Given the description of an element on the screen output the (x, y) to click on. 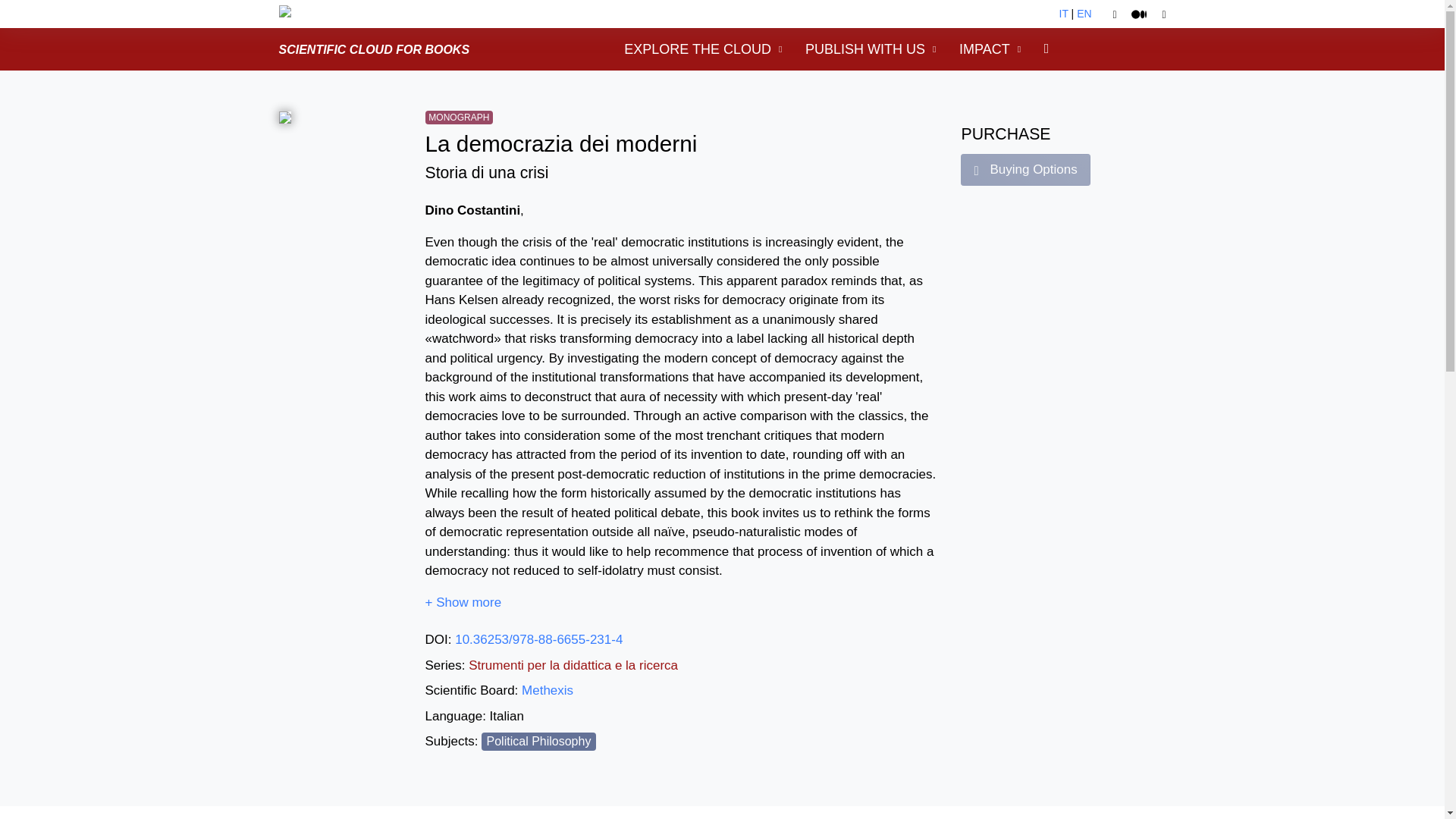
PUBLISH WITH US (870, 48)
EN (1083, 13)
EXPLORE THE CLOUD (702, 48)
SCIENTIFIC CLOUD FOR BOOKS (374, 48)
